Given the description of an element on the screen output the (x, y) to click on. 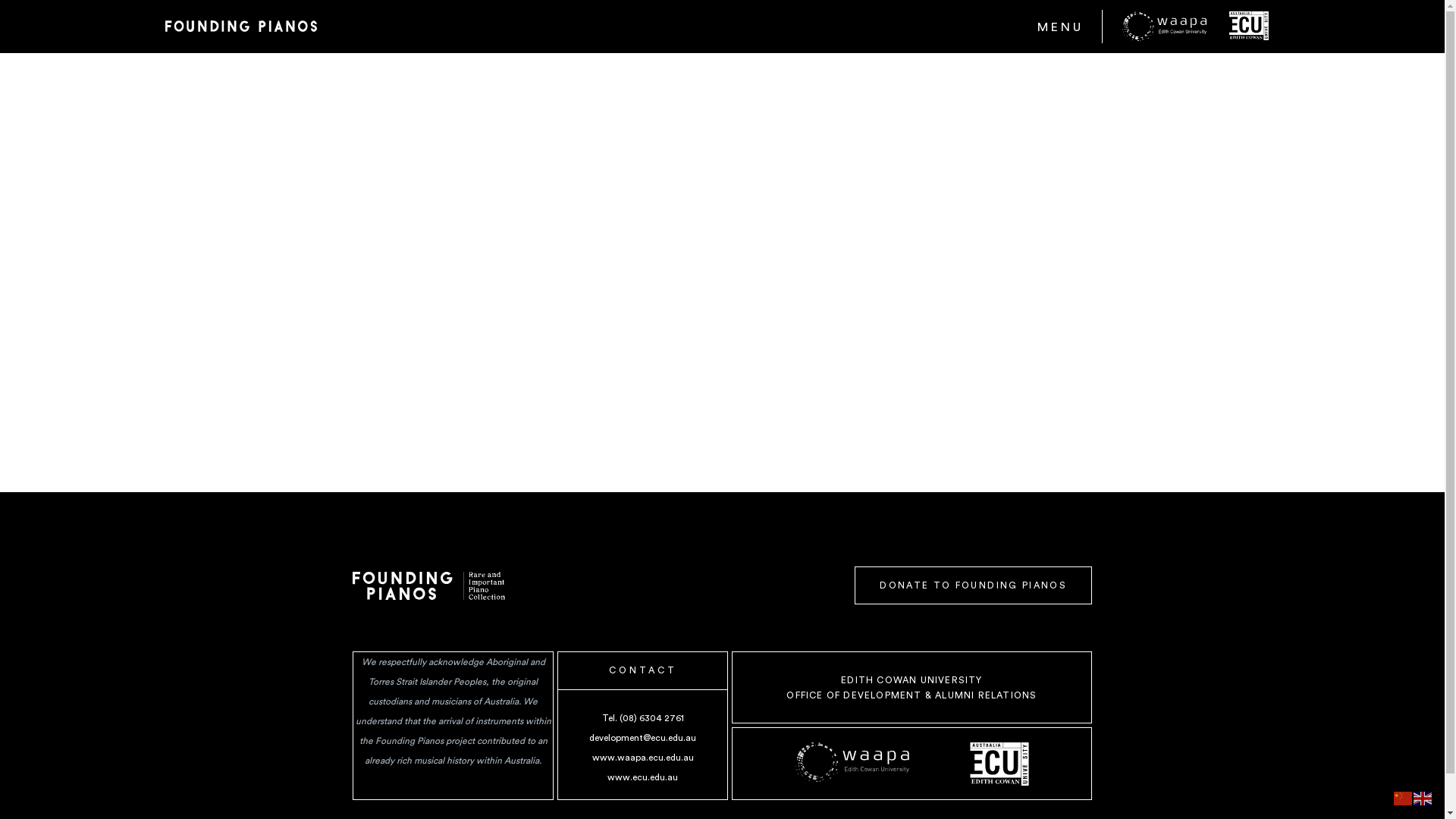
development@ecu.edu.au Element type: text (642, 737)
Chinese (Simplified) Element type: hover (1403, 797)
DONATE TO FOUNDING PIANOS Element type: text (973, 585)
www.waapa.ecu.edu.au Element type: text (642, 757)
MENU Element type: text (1060, 27)
Tel. (08) 6304 2761 Element type: text (642, 717)
Foundingpiano Element type: hover (428, 585)
Founding Pianos Element type: hover (240, 23)
www.ecu.edu.au Element type: text (642, 776)
Founding Pianos Element type: hover (240, 25)
English Element type: hover (1423, 797)
